Given the description of an element on the screen output the (x, y) to click on. 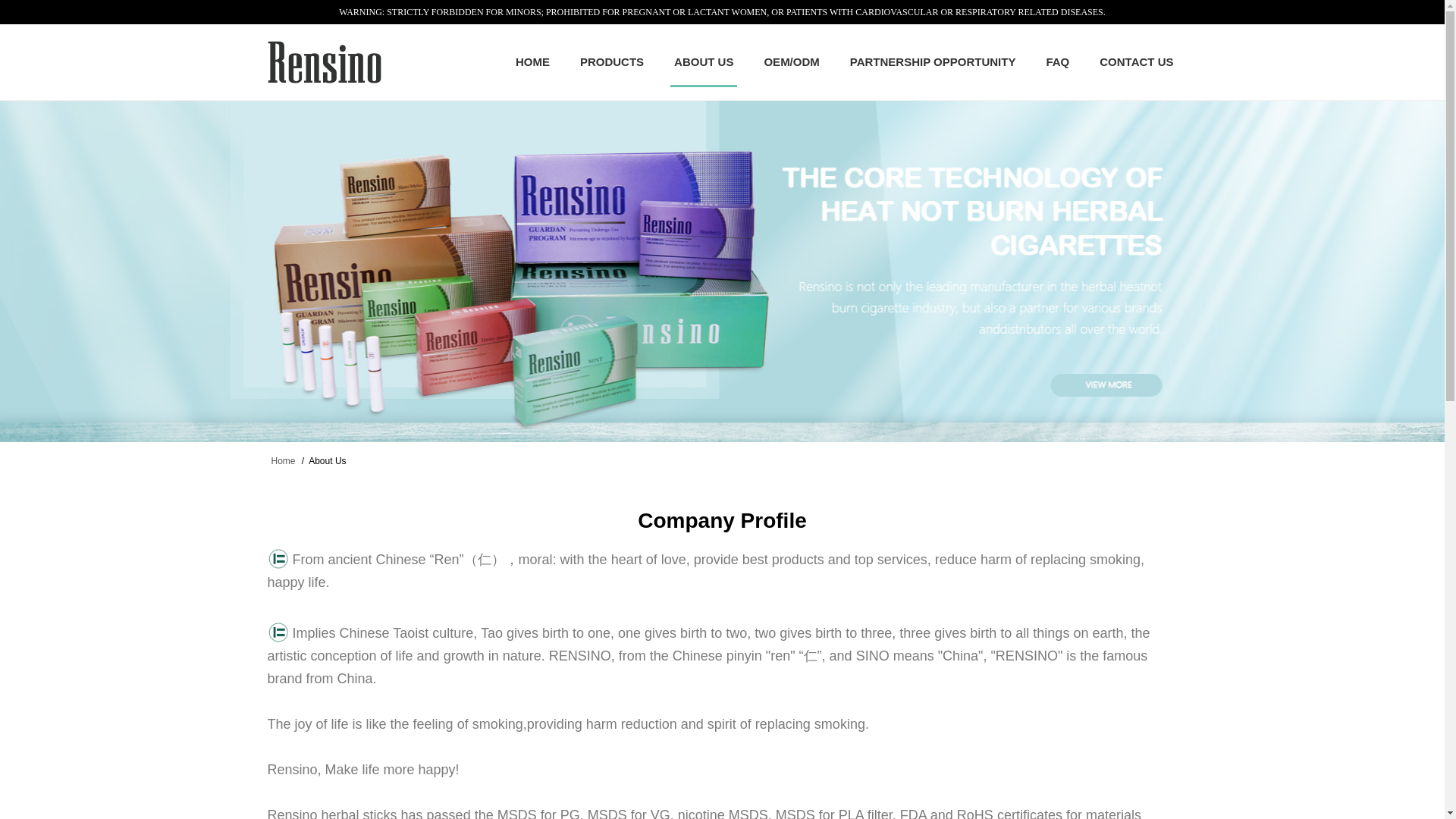
CONTACT US (1136, 61)
PARTNERSHIP OPPORTUNITY (933, 61)
Home (282, 460)
